Given the description of an element on the screen output the (x, y) to click on. 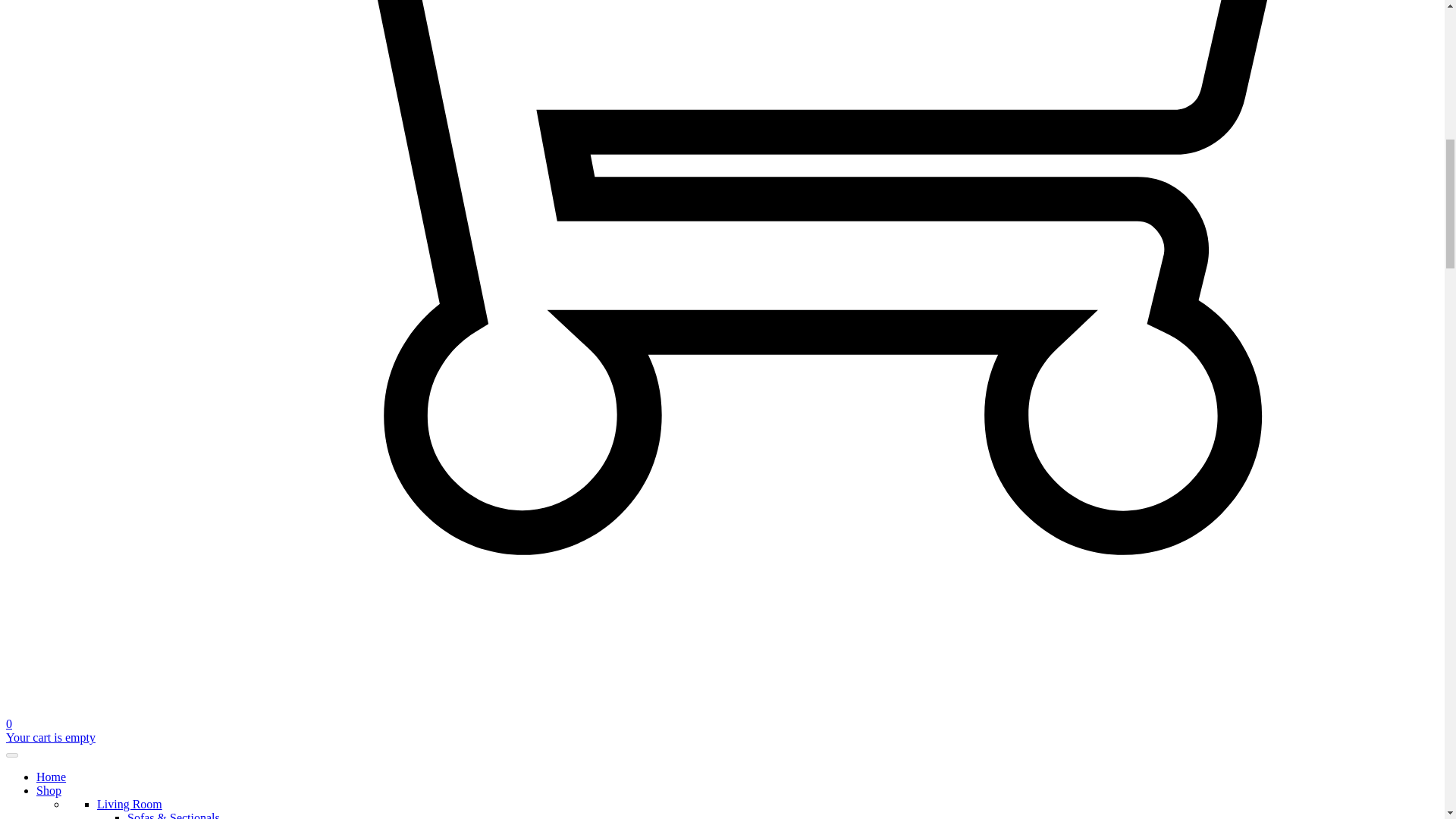
Shop (48, 789)
Your cart is empty (50, 737)
Living Room (129, 803)
Home (50, 776)
